Given the description of an element on the screen output the (x, y) to click on. 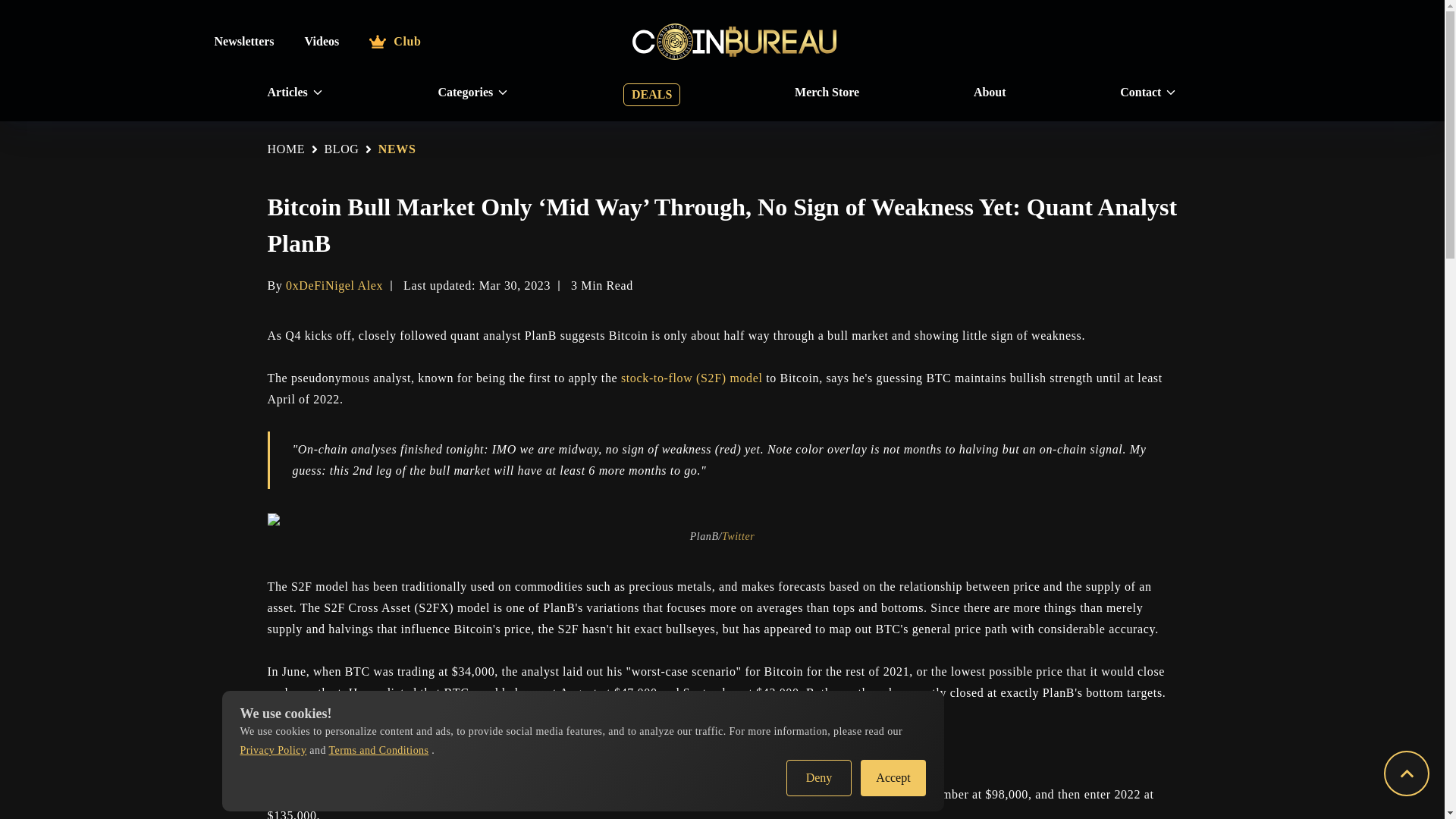
Newsletters (243, 41)
Videos (322, 41)
DEALS (651, 94)
Club (394, 41)
Merch Store (826, 92)
About (990, 92)
